Given the description of an element on the screen output the (x, y) to click on. 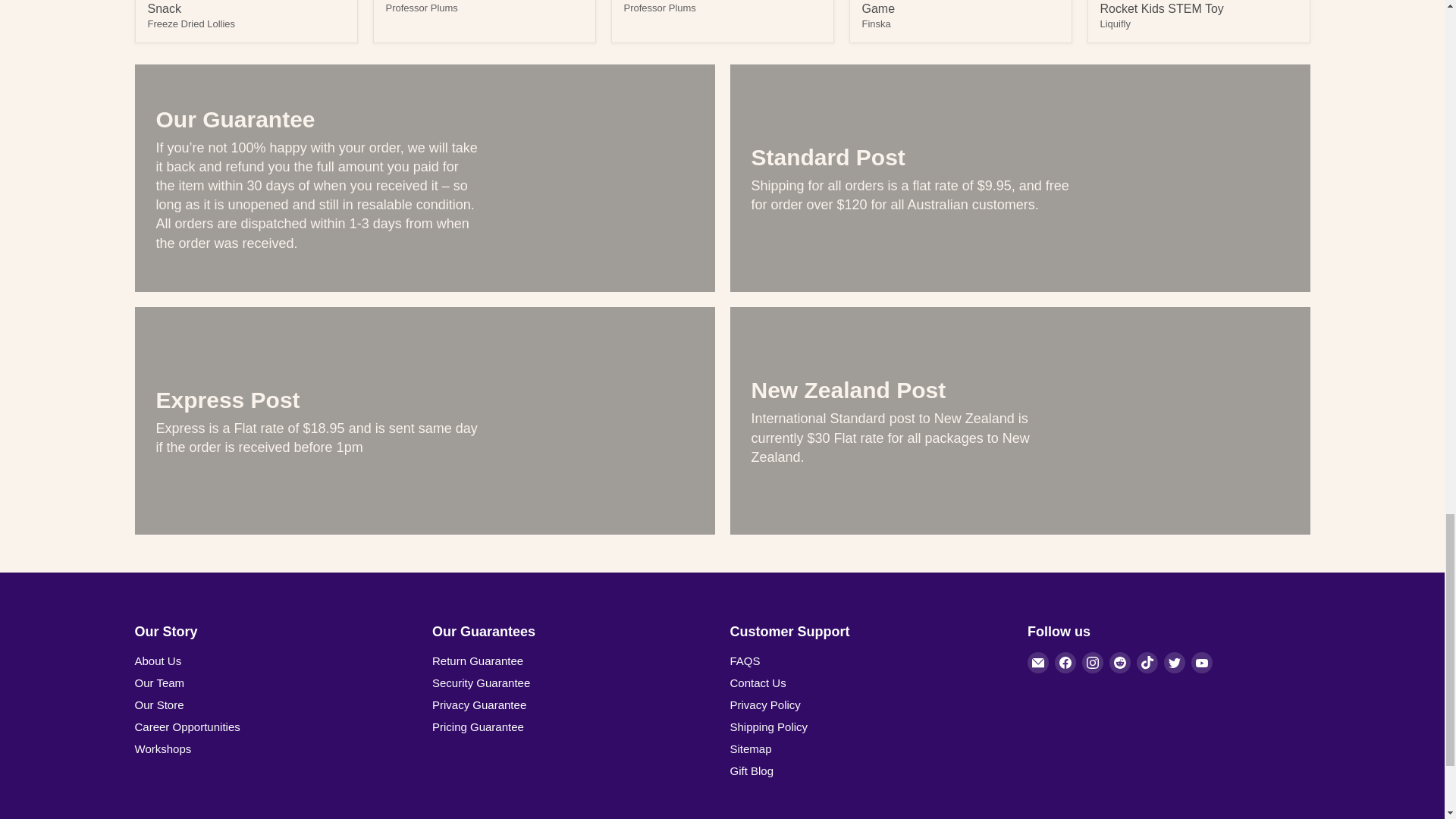
YouTube (1201, 662)
Freeze Dried Lollies (190, 23)
Email (1037, 662)
Liquifly (1114, 23)
Professor Plums (421, 7)
Twitter (1174, 662)
Instagram (1092, 662)
Professor Plums (659, 7)
Facebook (1064, 662)
Reddit (1120, 662)
Finska (875, 23)
TikTok (1147, 662)
